Given the description of an element on the screen output the (x, y) to click on. 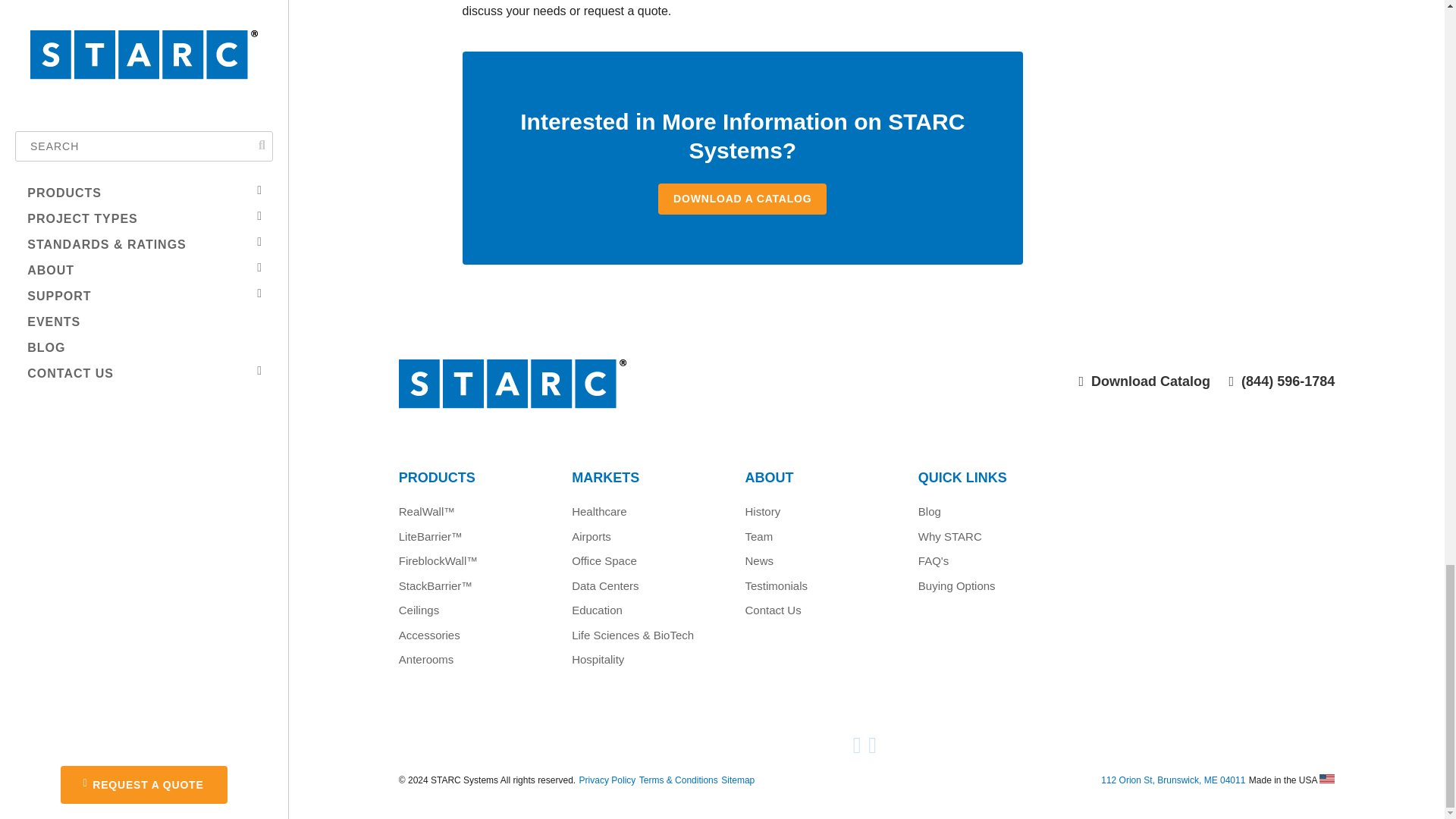
STARC Systems (623, 398)
112 Orion St, Brunswick, ME 04011 (1172, 779)
Sitemap (737, 779)
YouTube (858, 749)
LinkedIn (873, 749)
Privacy Policy (607, 779)
Call STARC Systems (1281, 381)
